Given the description of an element on the screen output the (x, y) to click on. 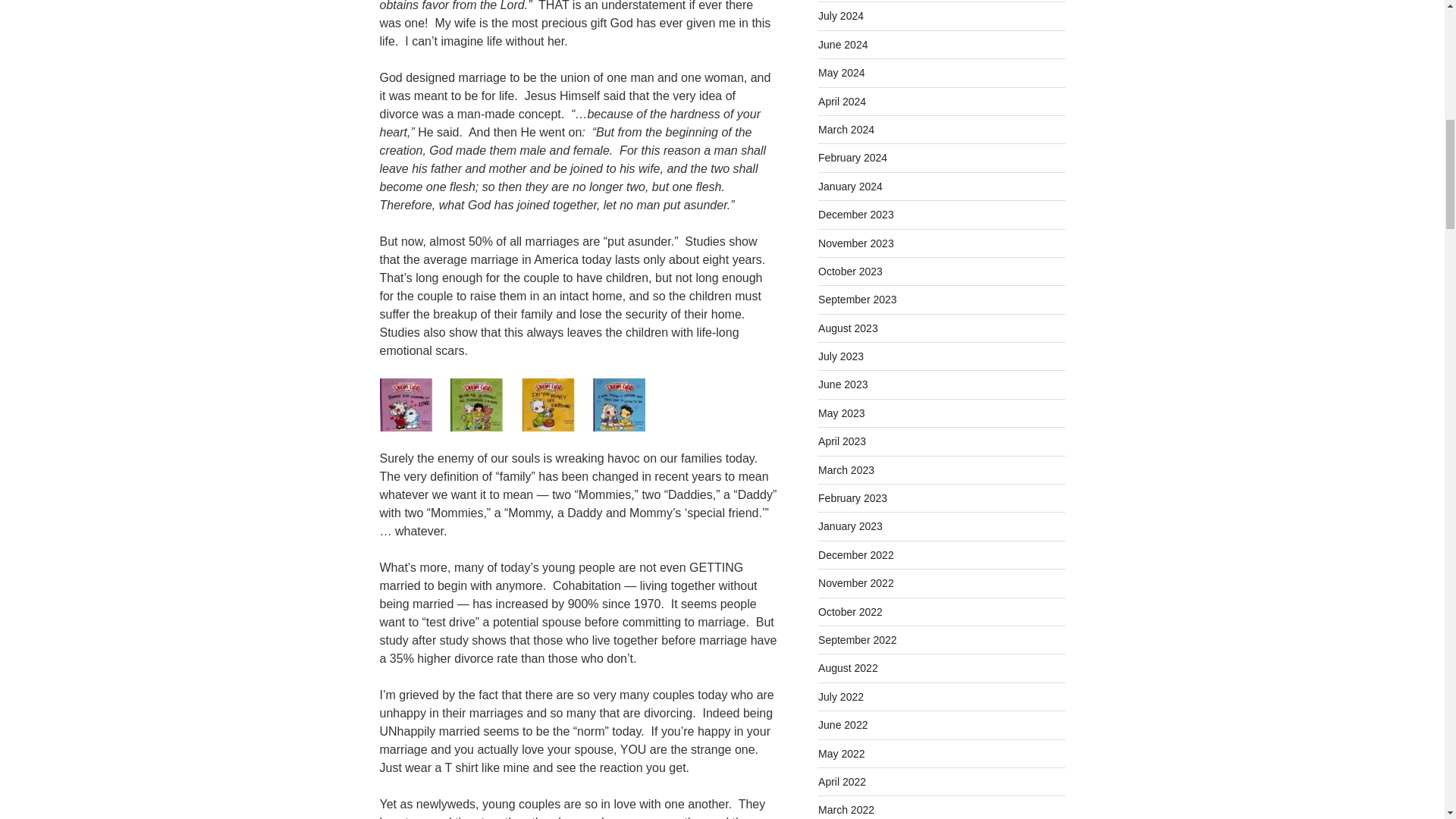
July 2023 (840, 356)
February 2024 (852, 157)
October 2023 (850, 271)
May 2023 (841, 413)
April 2024 (842, 101)
June 2024 (842, 44)
November 2023 (855, 243)
August 2023 (847, 328)
May 2024 (841, 72)
March 2024 (846, 129)
July 2024 (840, 15)
January 2024 (850, 186)
December 2023 (855, 214)
September 2023 (857, 299)
June 2023 (842, 384)
